Given the description of an element on the screen output the (x, y) to click on. 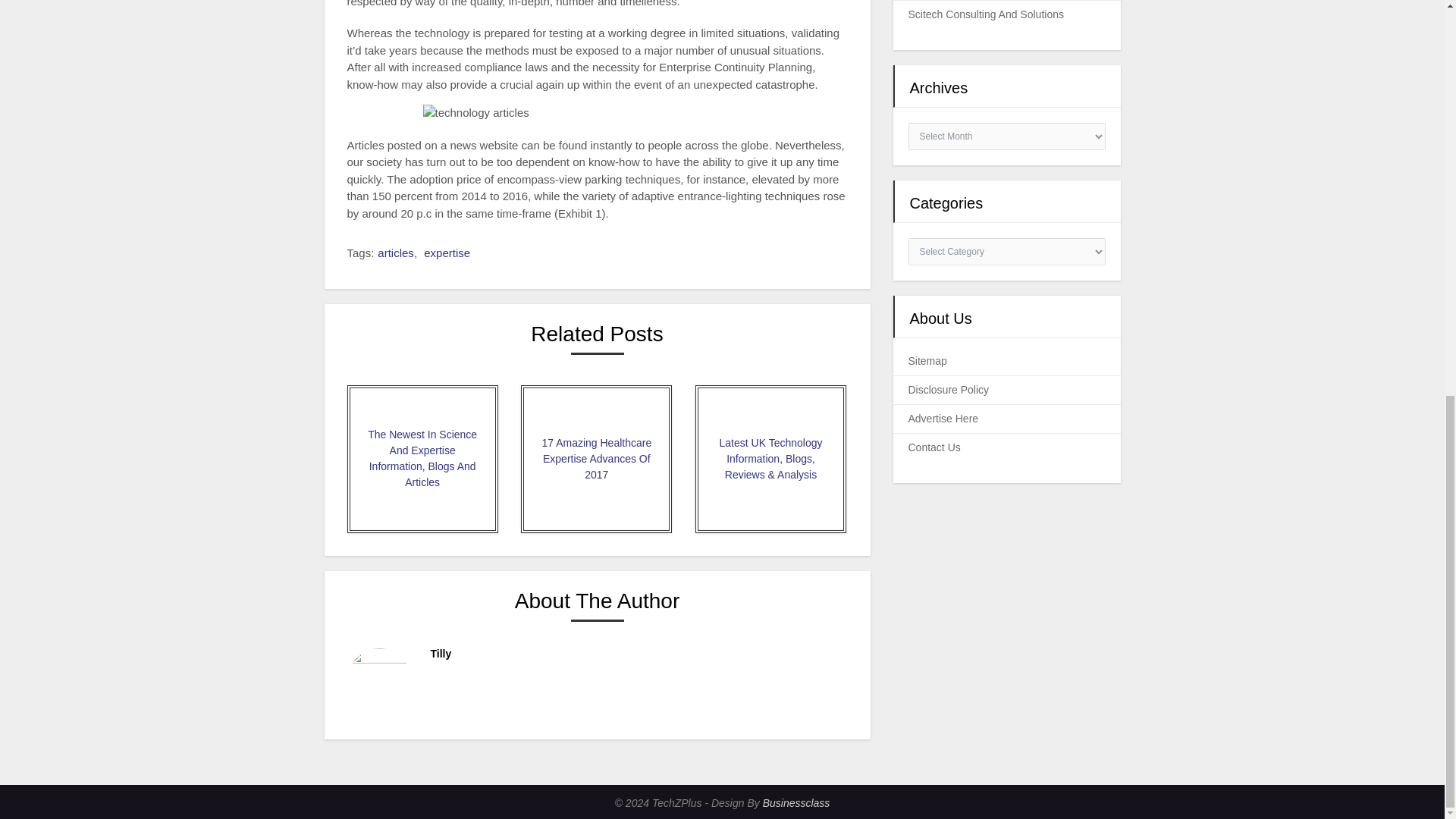
expertise (446, 252)
17 Amazing Healthcare Expertise Advances Of 2017 (596, 458)
17 Amazing Healthcare Expertise Advances Of 2017 (596, 458)
articles (395, 252)
